Given the description of an element on the screen output the (x, y) to click on. 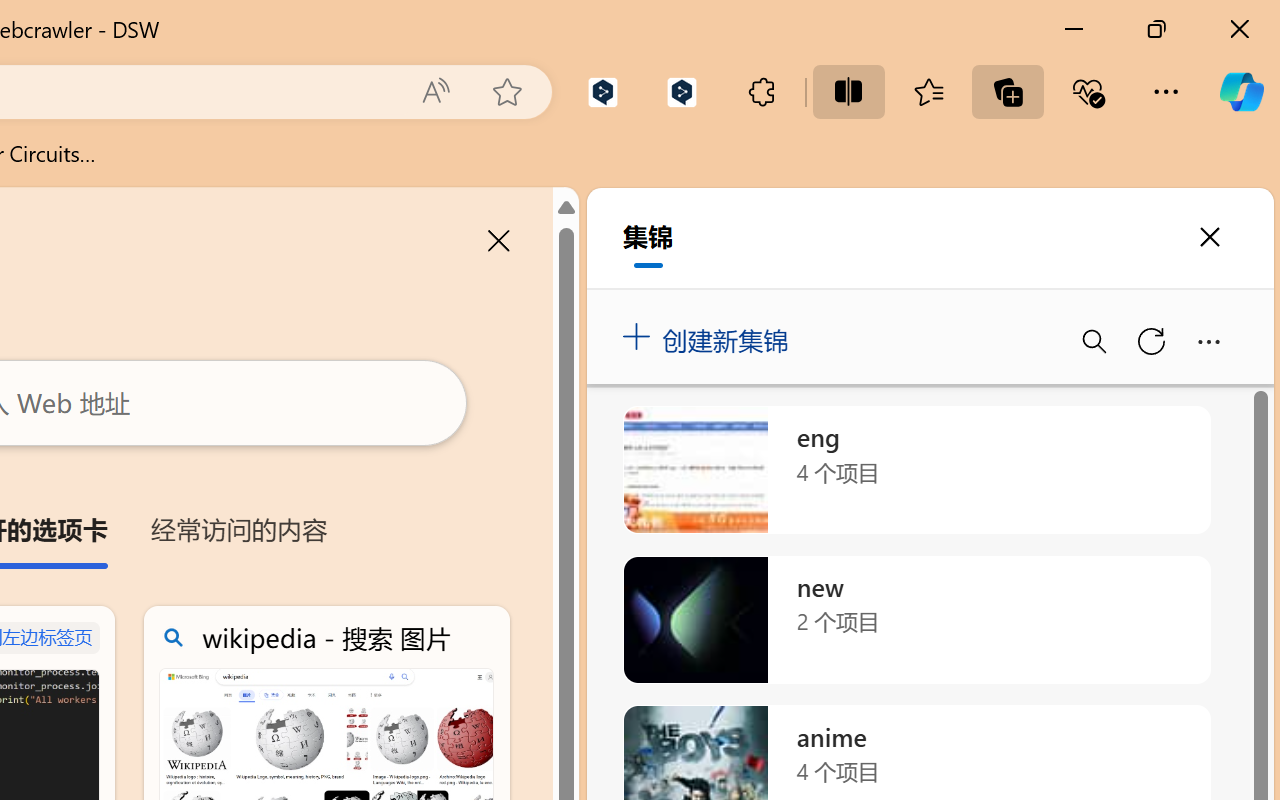
Copilot (Ctrl+Shift+.) (1241, 91)
